Given the description of an element on the screen output the (x, y) to click on. 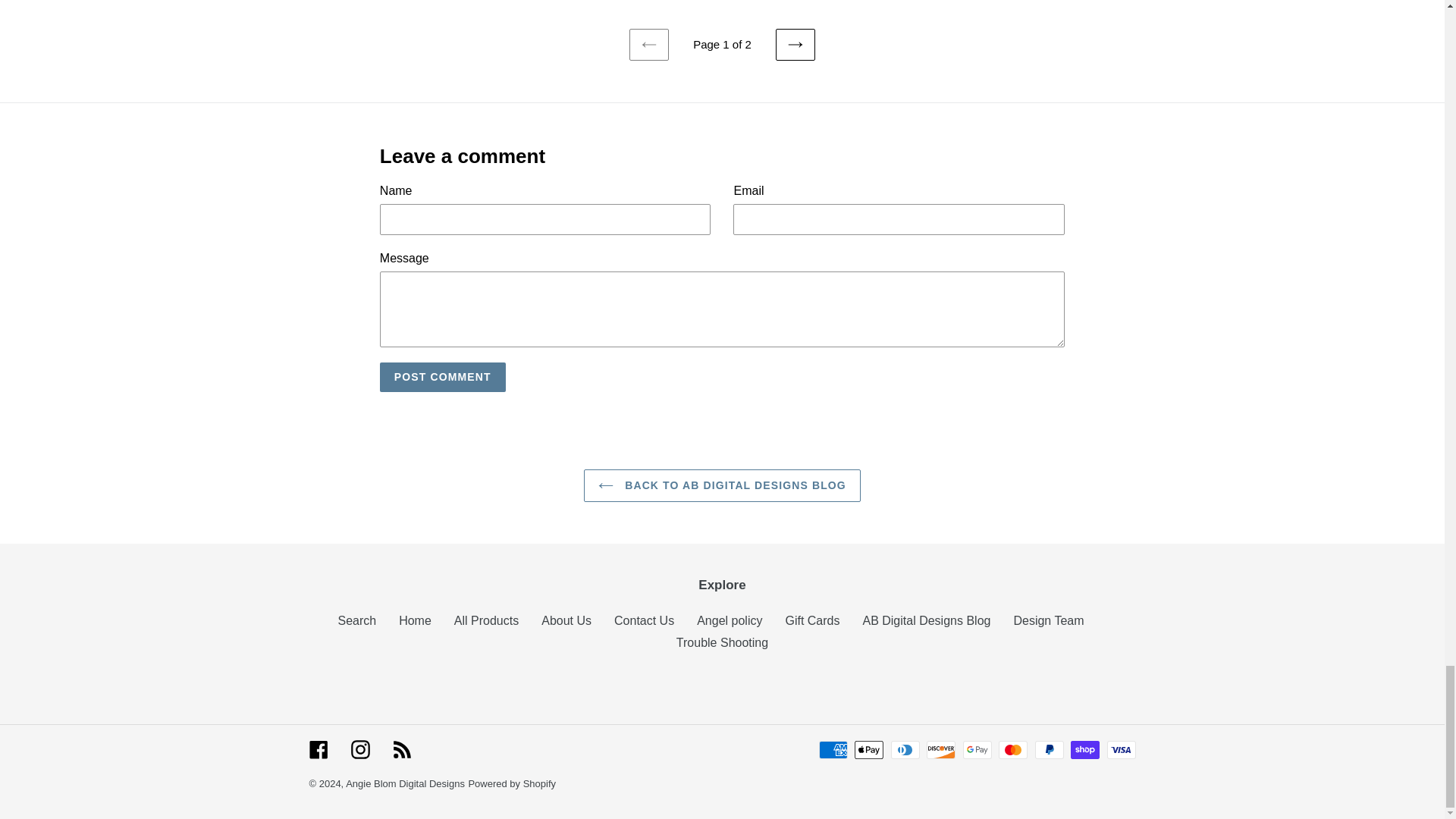
Post comment (442, 377)
